Given the description of an element on the screen output the (x, y) to click on. 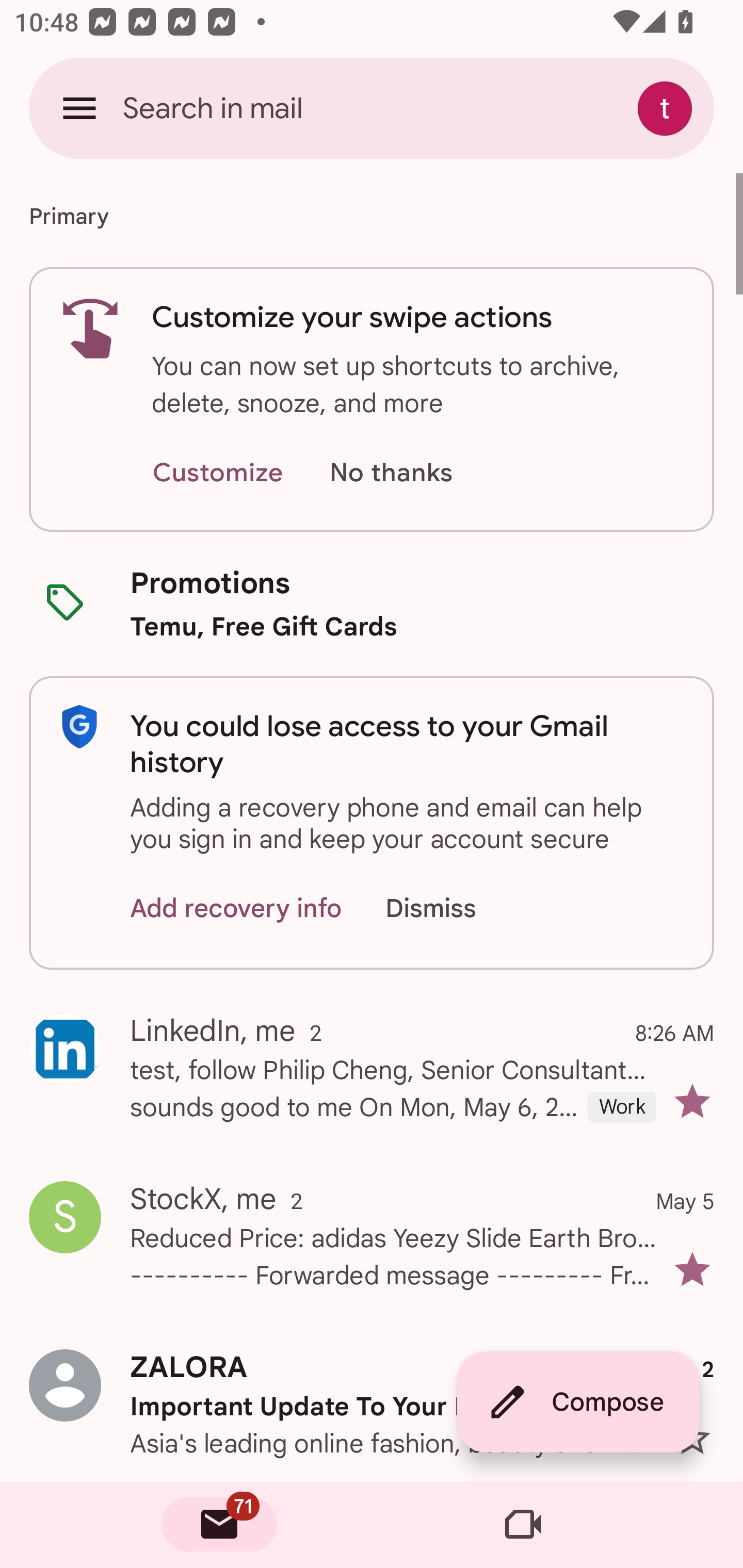
Open navigation drawer (79, 108)
Customize (217, 473)
No thanks (390, 473)
Promotions Temu, Free Gift Cards (371, 603)
Add recovery info (235, 908)
Dismiss (449, 908)
Compose (577, 1401)
Meet (523, 1524)
